Given the description of an element on the screen output the (x, y) to click on. 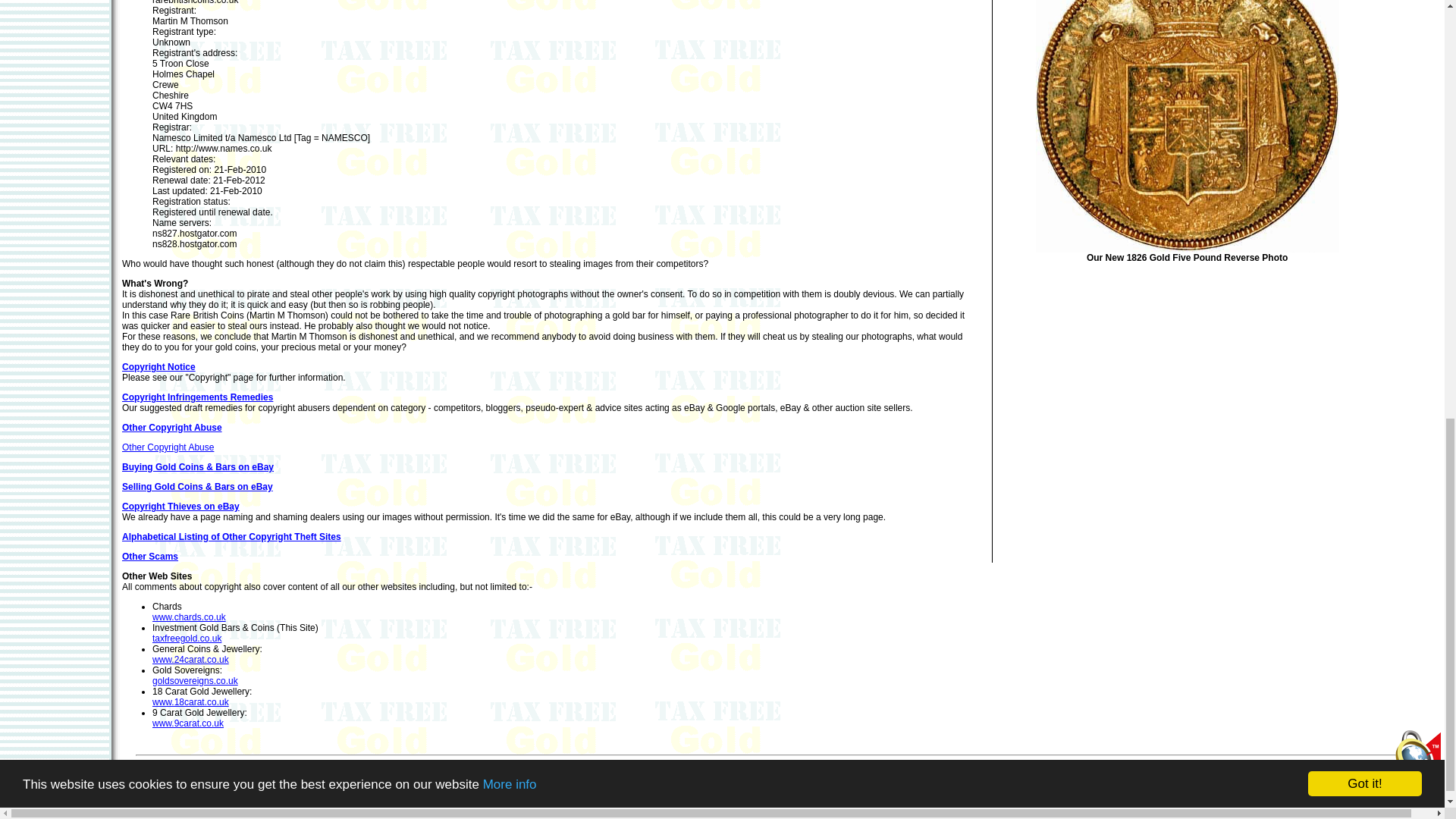
Other Copyright Abuse (172, 427)
Other Copyright Abuse (168, 447)
Copyright Infringements Remedies (197, 397)
Copyright Notice (158, 366)
